Given the description of an element on the screen output the (x, y) to click on. 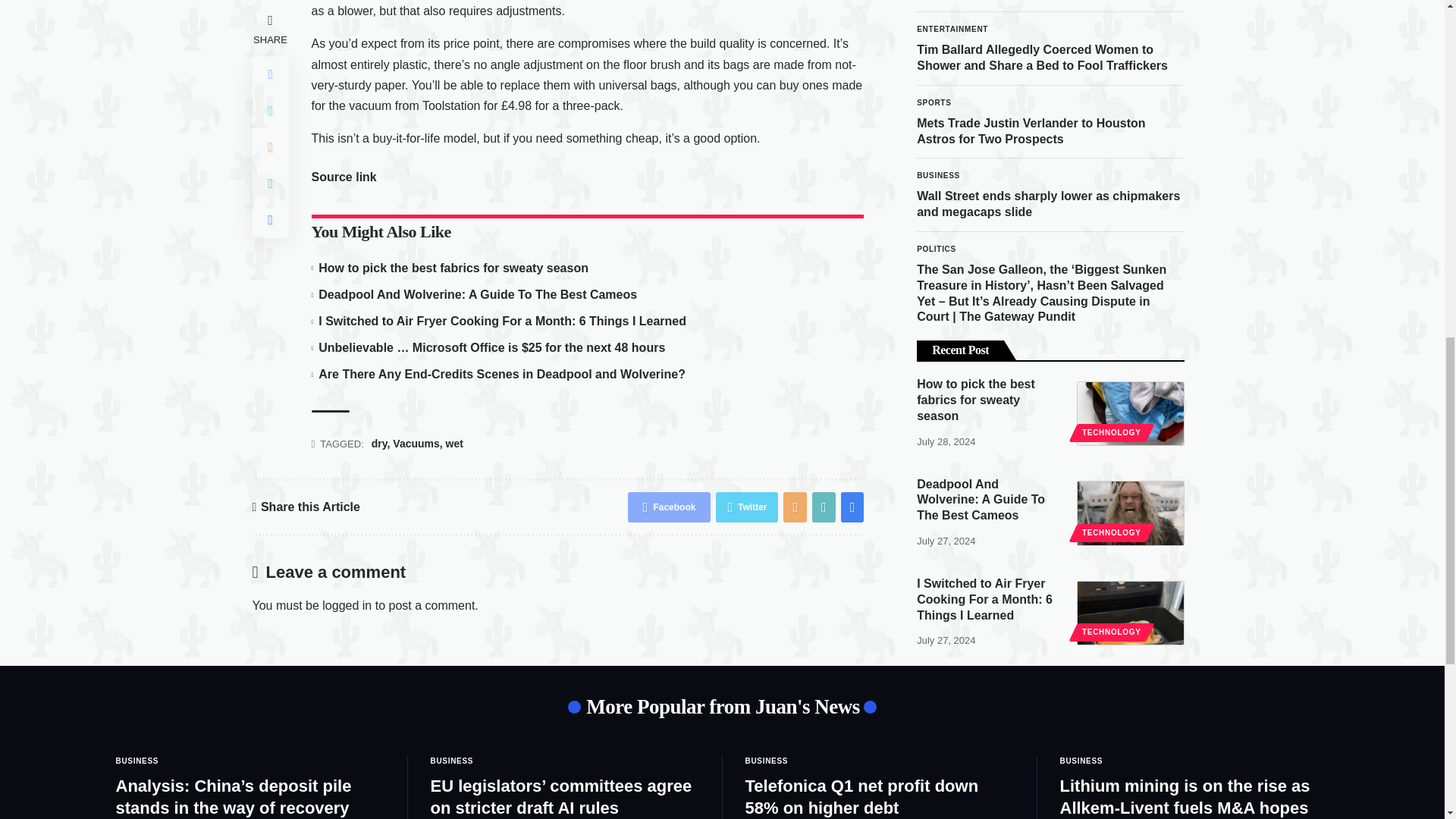
How to pick the best fabrics for sweaty season (1131, 226)
Deadpool And Wolverine: A Guide To The Best Cameos (1131, 326)
